Given the description of an element on the screen output the (x, y) to click on. 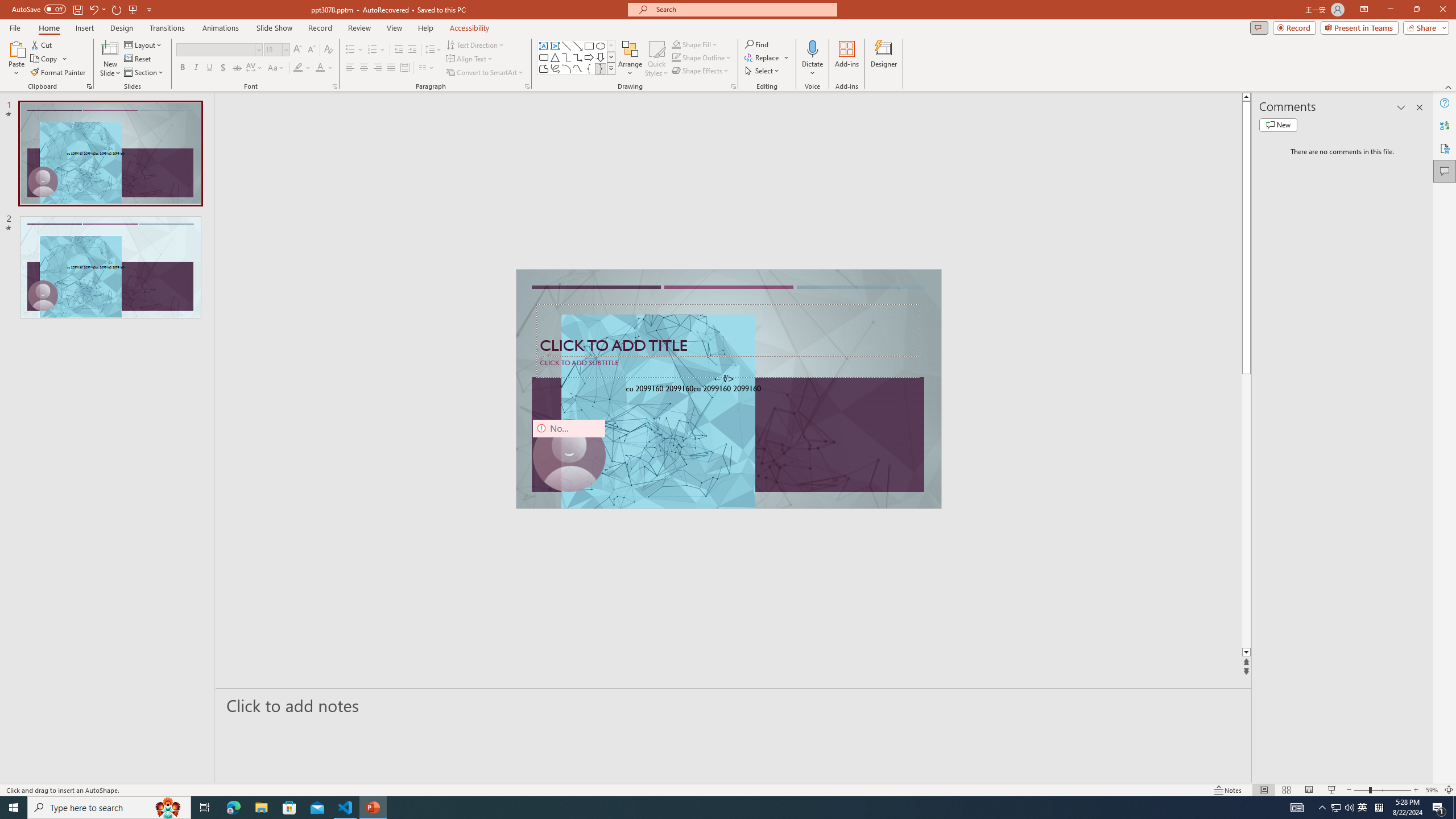
Decrease Font Size (310, 49)
Align Text (470, 58)
Replace... (762, 56)
Shadow (223, 67)
Strikethrough (237, 67)
Arc (566, 68)
Shapes (611, 68)
Format Painter (58, 72)
Row Down (611, 56)
Shape Outline Green, Accent 1 (675, 56)
Font Color (324, 67)
Copy (49, 58)
